Given the description of an element on the screen output the (x, y) to click on. 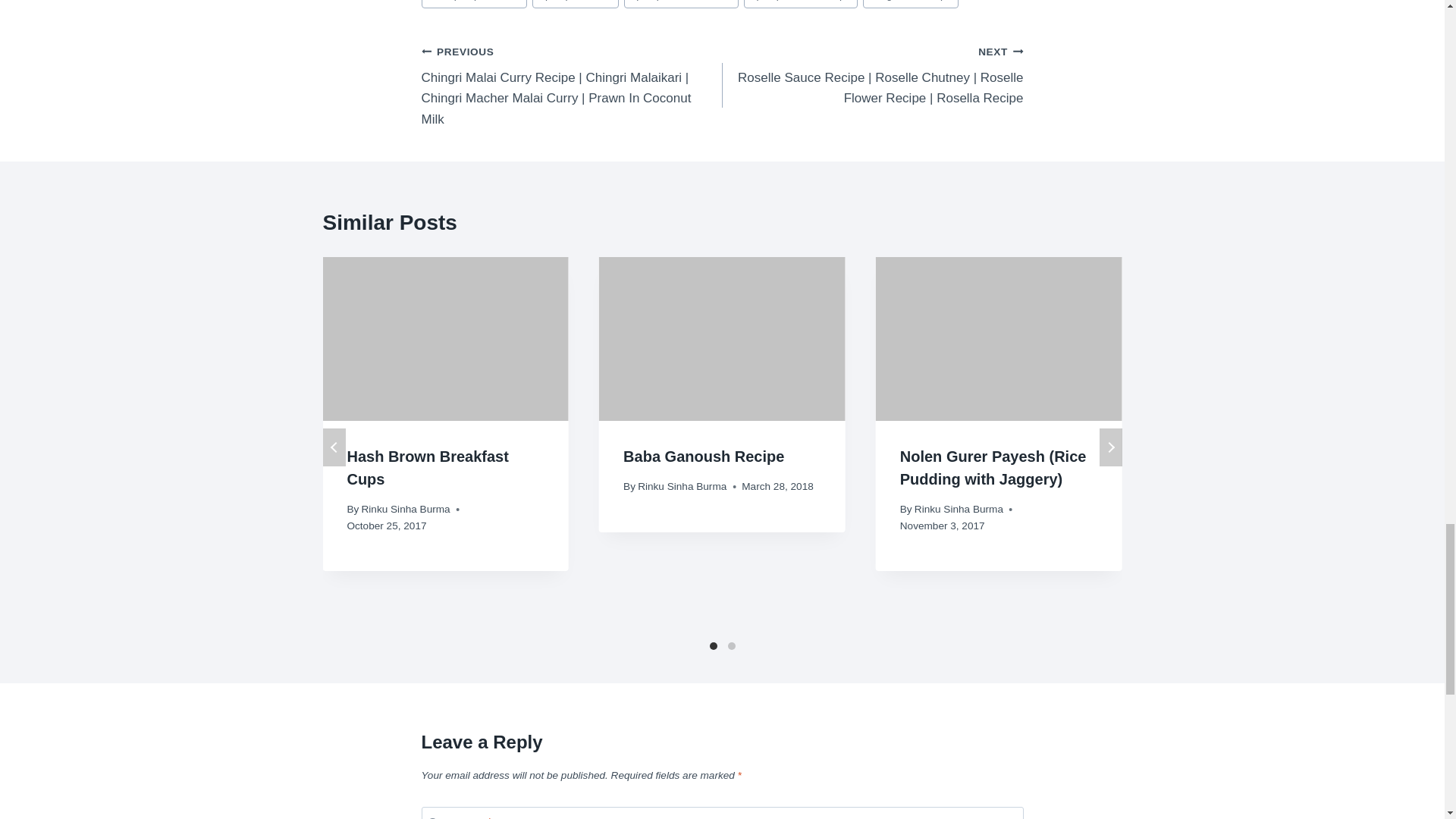
pumpkinflower (575, 4)
pumpkinflowerfritters (681, 4)
vegeterianrecipe (910, 4)
friedpumpkinflower (474, 4)
pumpkinflowerrecipe (801, 4)
